Given the description of an element on the screen output the (x, y) to click on. 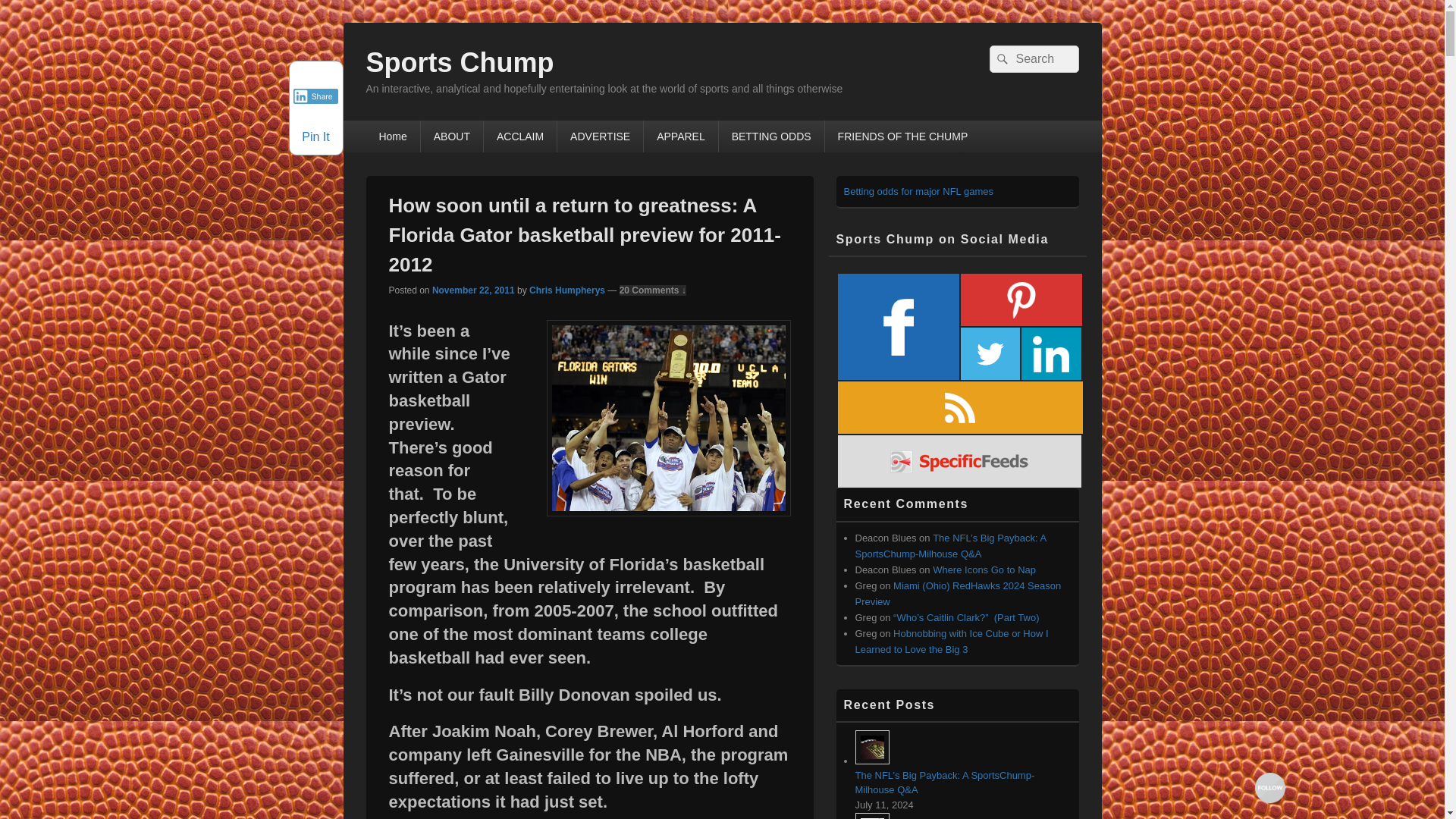
BETTING ODDS (771, 136)
Search (999, 58)
ADVERTISE (600, 136)
Share (315, 96)
ACCLAIM (519, 136)
AMoss (668, 418)
Betting odds for major NFL games (917, 191)
Chris Humpherys (567, 290)
FRIENDS OF THE CHUMP (903, 136)
Sports Chump (459, 61)
Search for: (1033, 58)
View all posts by Chris Humpherys (567, 290)
November 22, 2011 (473, 290)
Home (392, 136)
APPAREL (680, 136)
